Given the description of an element on the screen output the (x, y) to click on. 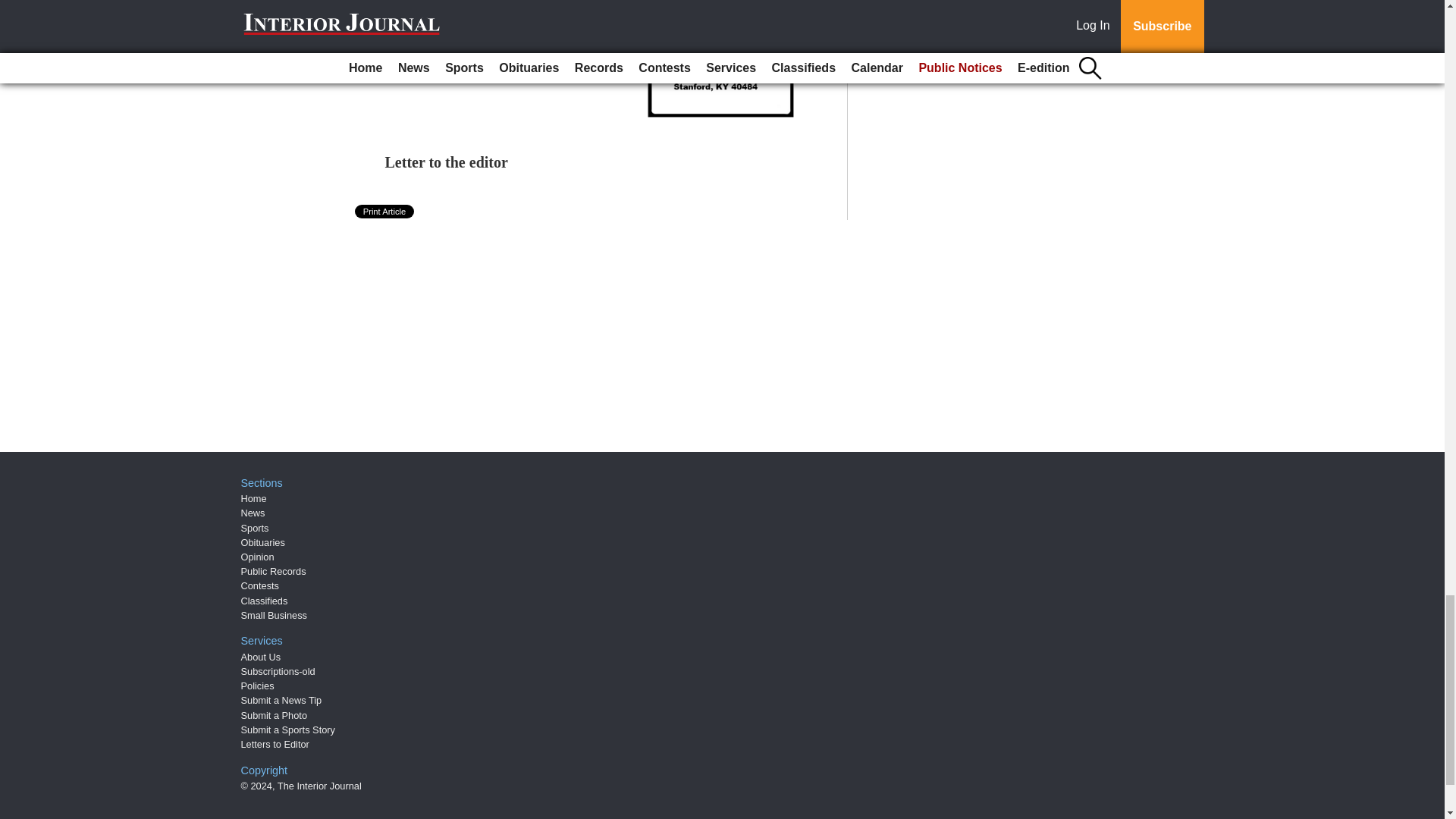
Letter to the editor (446, 161)
Letter to the editor (446, 161)
Obituaries (263, 542)
Print Article (384, 211)
Home (253, 498)
Letter to the editor: Hey, Republicans, do your job (466, 35)
Public Records (273, 571)
Opinion (258, 556)
News (252, 512)
Letter to the editor: Hey, Republicans, do your job (466, 35)
Sports (255, 527)
